Given the description of an element on the screen output the (x, y) to click on. 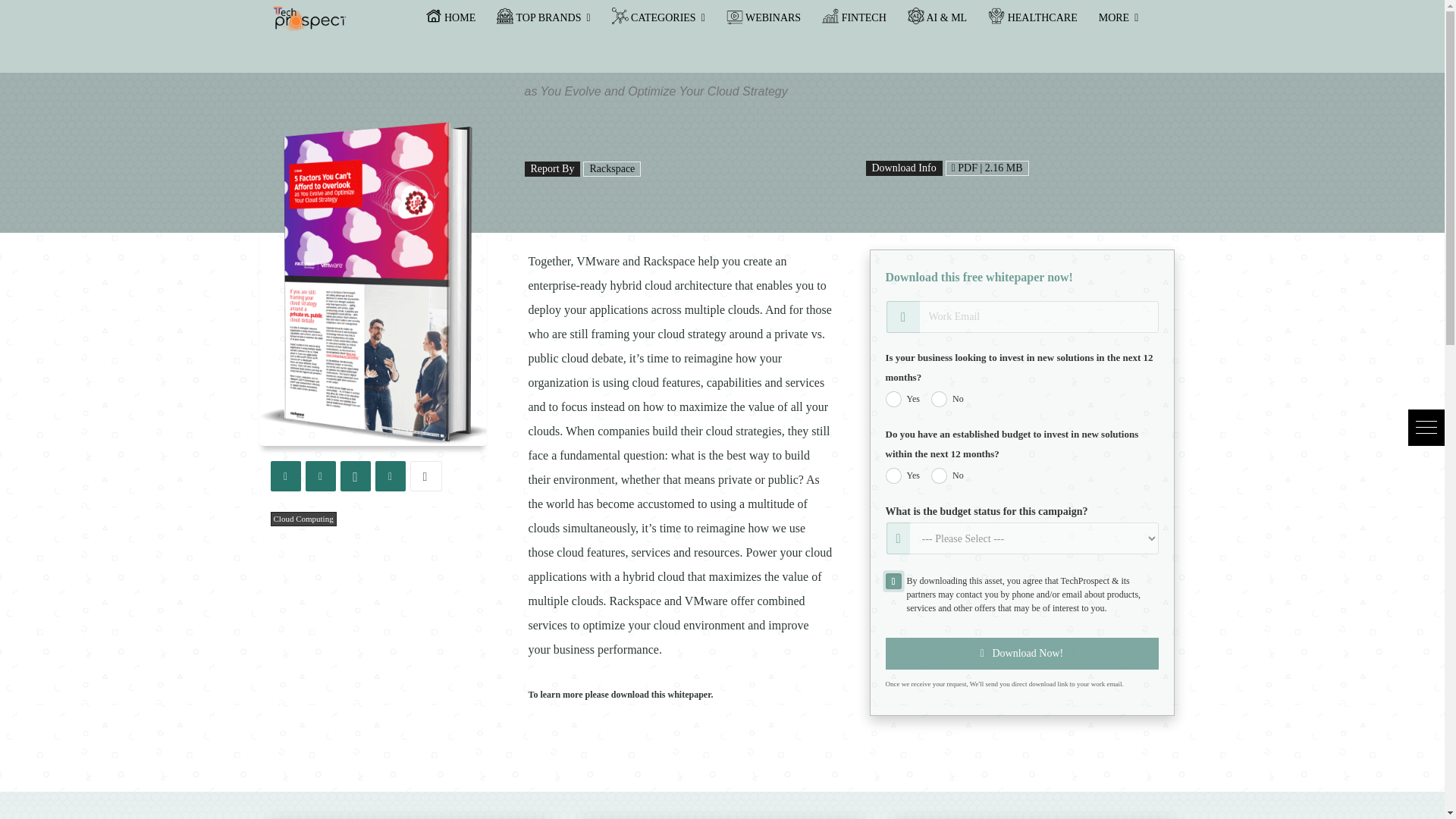
Twitter (319, 476)
More (425, 476)
WhatsApp (354, 476)
Linkedin (389, 476)
Search (40, 14)
TOP BRANDS (542, 18)
CATEGORIES (658, 18)
Facebook (284, 476)
HOME (449, 18)
